Given the description of an element on the screen output the (x, y) to click on. 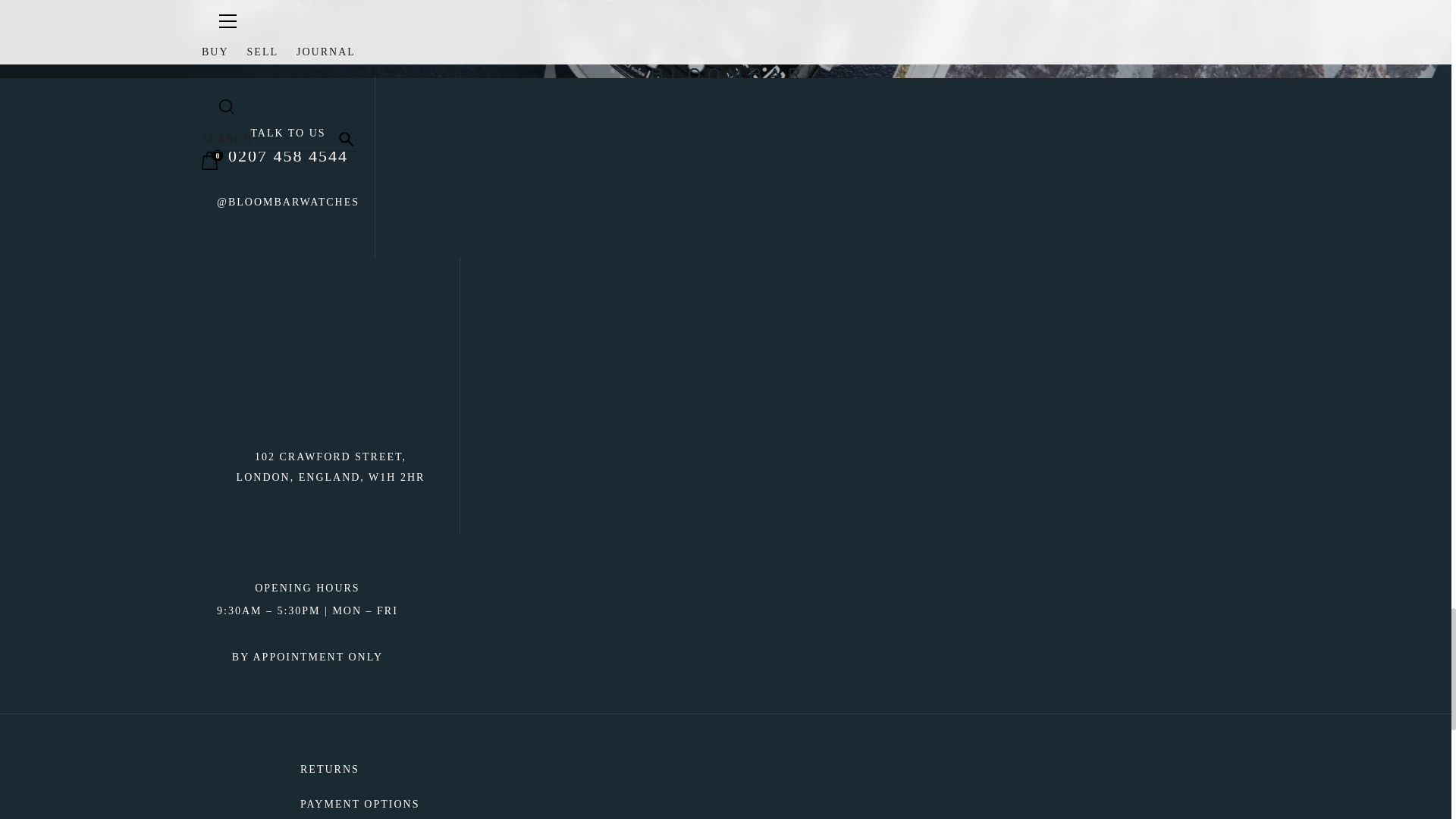
PAYMENT OPTIONS (359, 804)
0207 458 4544 (287, 155)
RETURNS (359, 770)
